Given the description of an element on the screen output the (x, y) to click on. 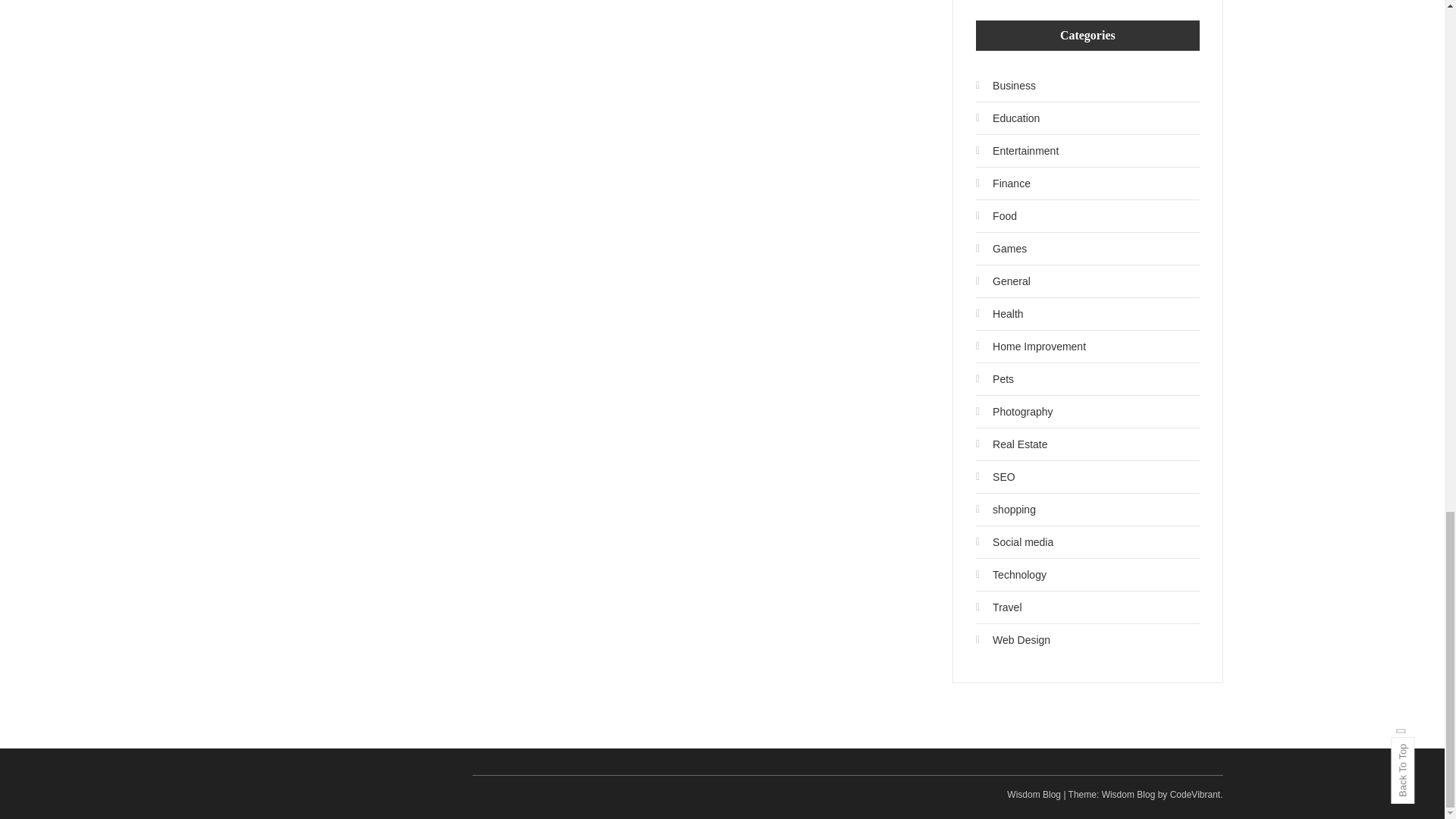
Finance (1002, 183)
Entertainment (1016, 150)
shopping (1005, 509)
Real Estate (1010, 444)
General (1002, 281)
Health (999, 313)
Food (995, 215)
Business (1005, 85)
Games (1000, 248)
Pets (994, 378)
Home Improvement (1030, 346)
SEO (994, 476)
Education (1007, 118)
Photography (1013, 411)
